Given the description of an element on the screen output the (x, y) to click on. 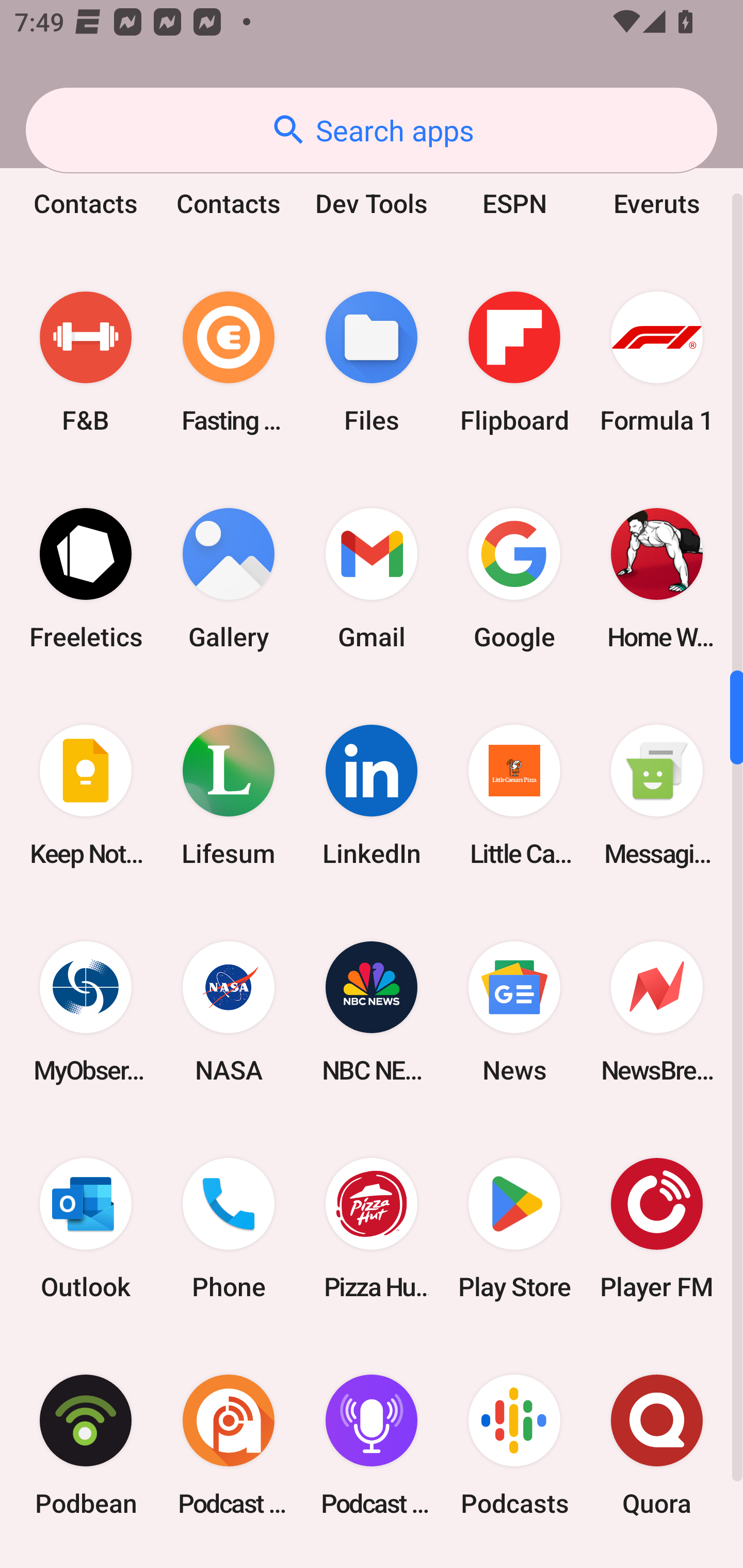
  Search apps (371, 130)
F&B (85, 362)
Fasting Coach (228, 362)
Files (371, 362)
Flipboard (514, 362)
Formula 1 (656, 362)
Freeletics (85, 578)
Gallery (228, 578)
Gmail (371, 578)
Google (514, 578)
Home Workout (656, 578)
Keep Notes (85, 794)
Lifesum (228, 794)
LinkedIn (371, 794)
Little Caesars Pizza (514, 794)
Messaging (656, 794)
MyObservatory (85, 1011)
NASA (228, 1011)
NBC NEWS (371, 1011)
News (514, 1011)
NewsBreak (656, 1011)
Outlook (85, 1228)
Phone (228, 1228)
Pizza Hut HK & Macau (371, 1228)
Play Store (514, 1228)
Player FM (656, 1228)
Podbean (85, 1445)
Podcast Addict (228, 1445)
Podcast Player (371, 1445)
Podcasts (514, 1445)
Quora (656, 1445)
